Given the description of an element on the screen output the (x, y) to click on. 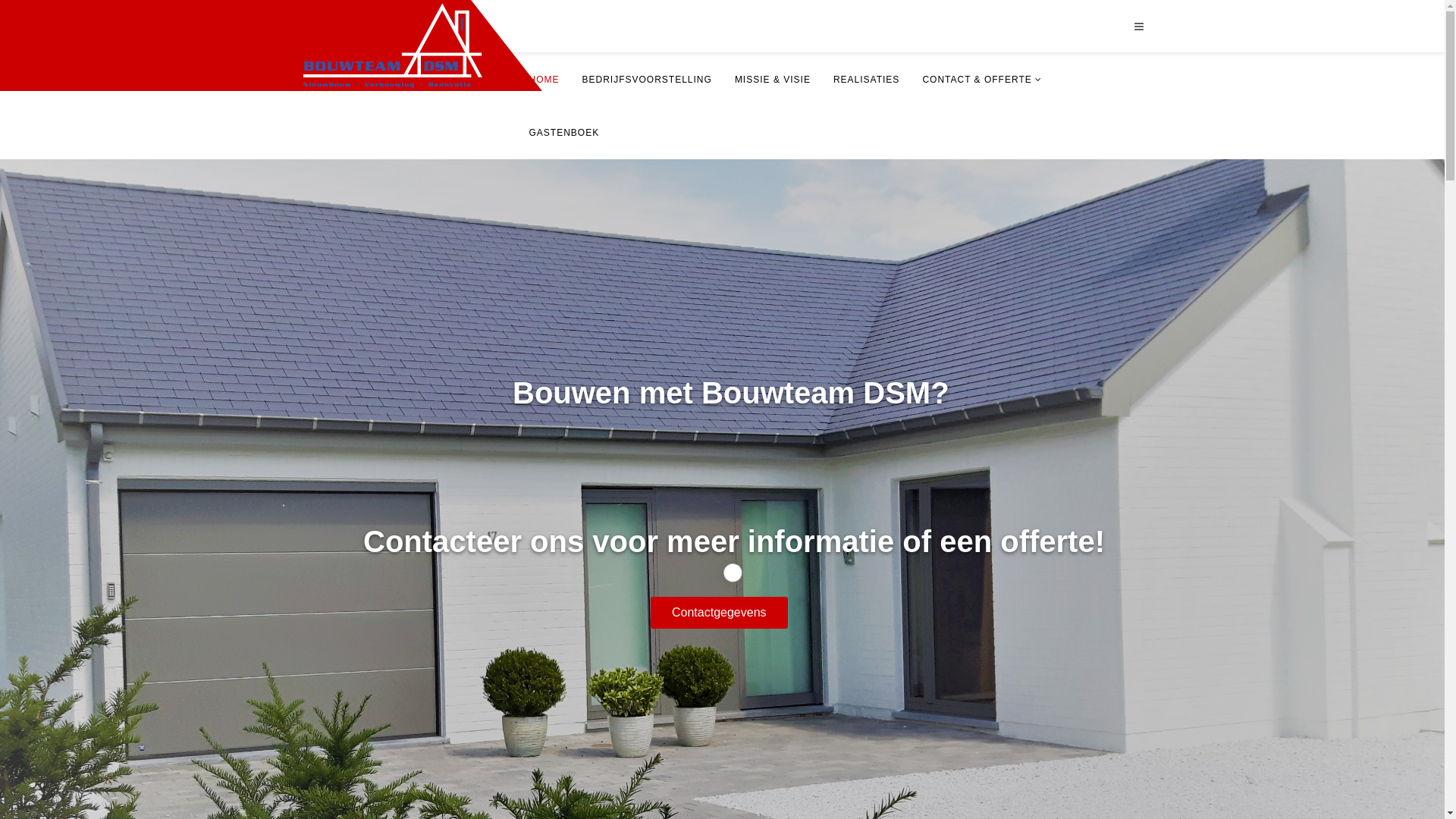
MISSIE & VISIE Element type: text (772, 79)
HOME Element type: text (543, 79)
BEDRIJFSVOORSTELLING Element type: text (646, 79)
Contactgegevens Element type: text (718, 612)
REALISATIES Element type: text (866, 79)
GASTENBOEK Element type: text (563, 132)
CONTACT & OFFERTE Element type: text (981, 79)
